Given the description of an element on the screen output the (x, y) to click on. 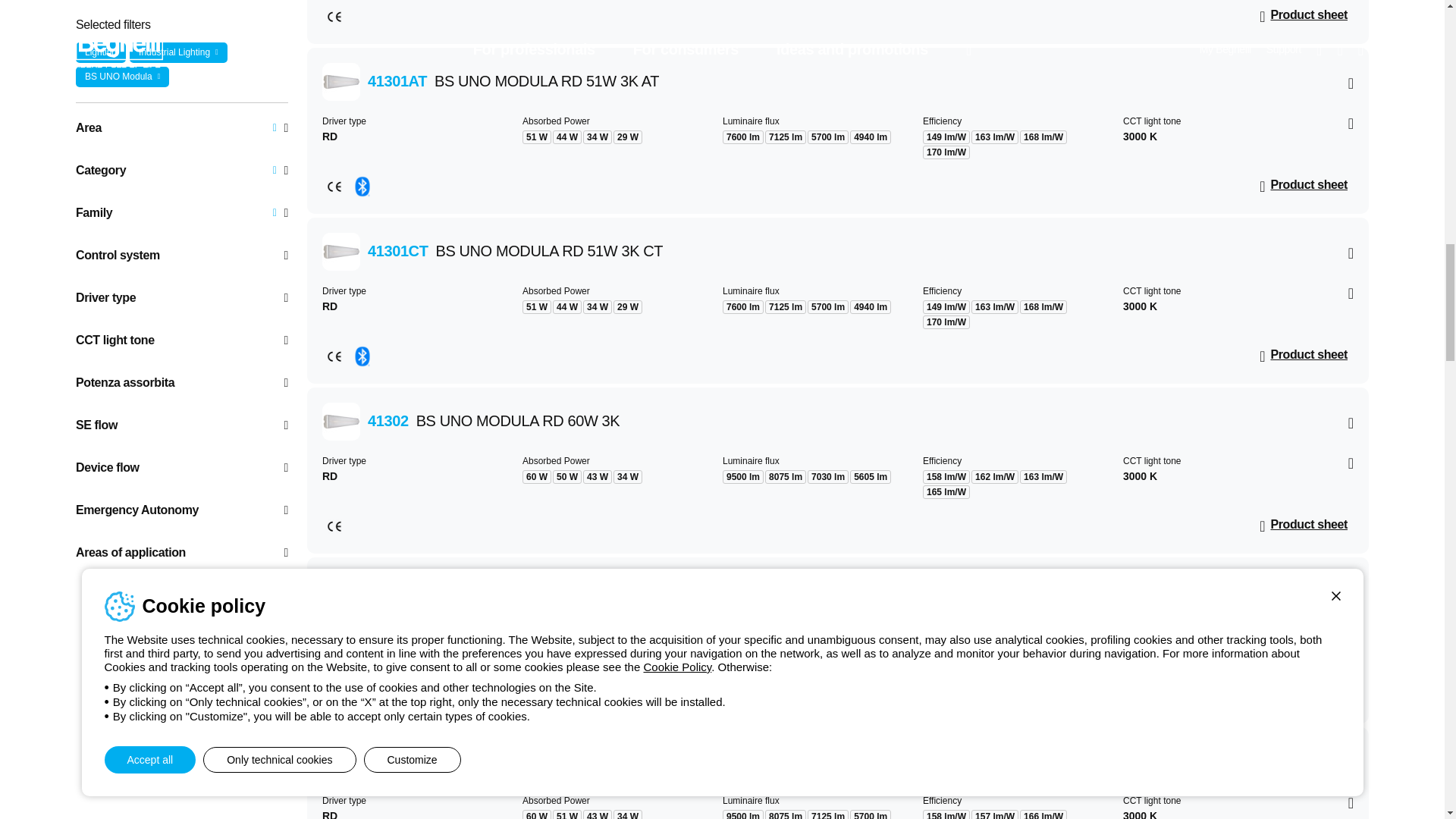
BLUETOOTH (362, 186)
CE (333, 526)
CE (333, 355)
CE (333, 16)
BLUETOOTH (362, 695)
CE (333, 186)
BLUETOOTH (362, 355)
CE (333, 695)
